Given the description of an element on the screen output the (x, y) to click on. 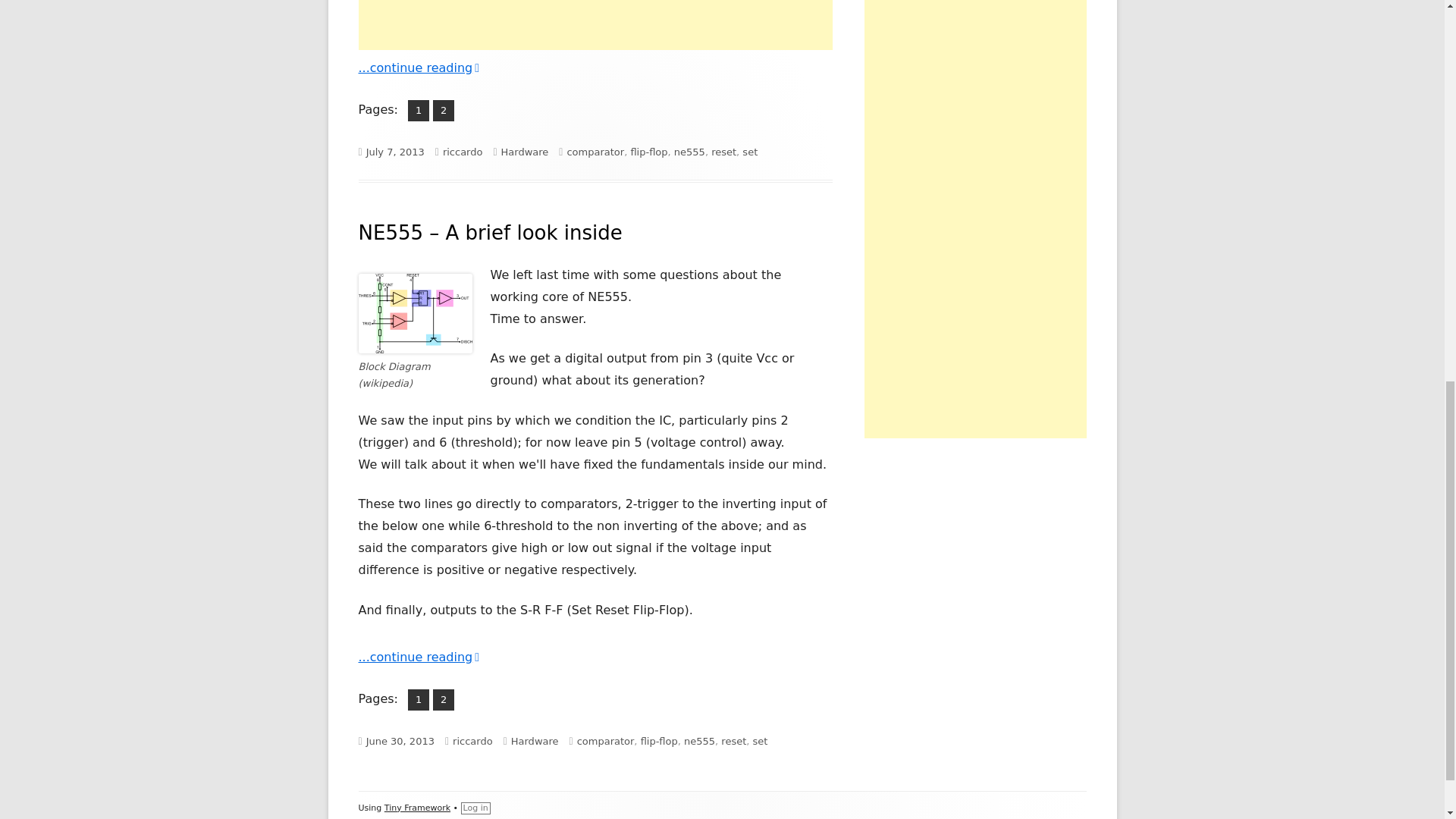
comparator (605, 740)
flip-flop (418, 699)
reset (443, 110)
Hardware (659, 740)
comparator (723, 152)
set (524, 152)
June 30, 2013 (595, 152)
Advertisement (749, 152)
July 7, 2013 (399, 740)
Hardware (594, 24)
flip-flop (443, 699)
